Given the description of an element on the screen output the (x, y) to click on. 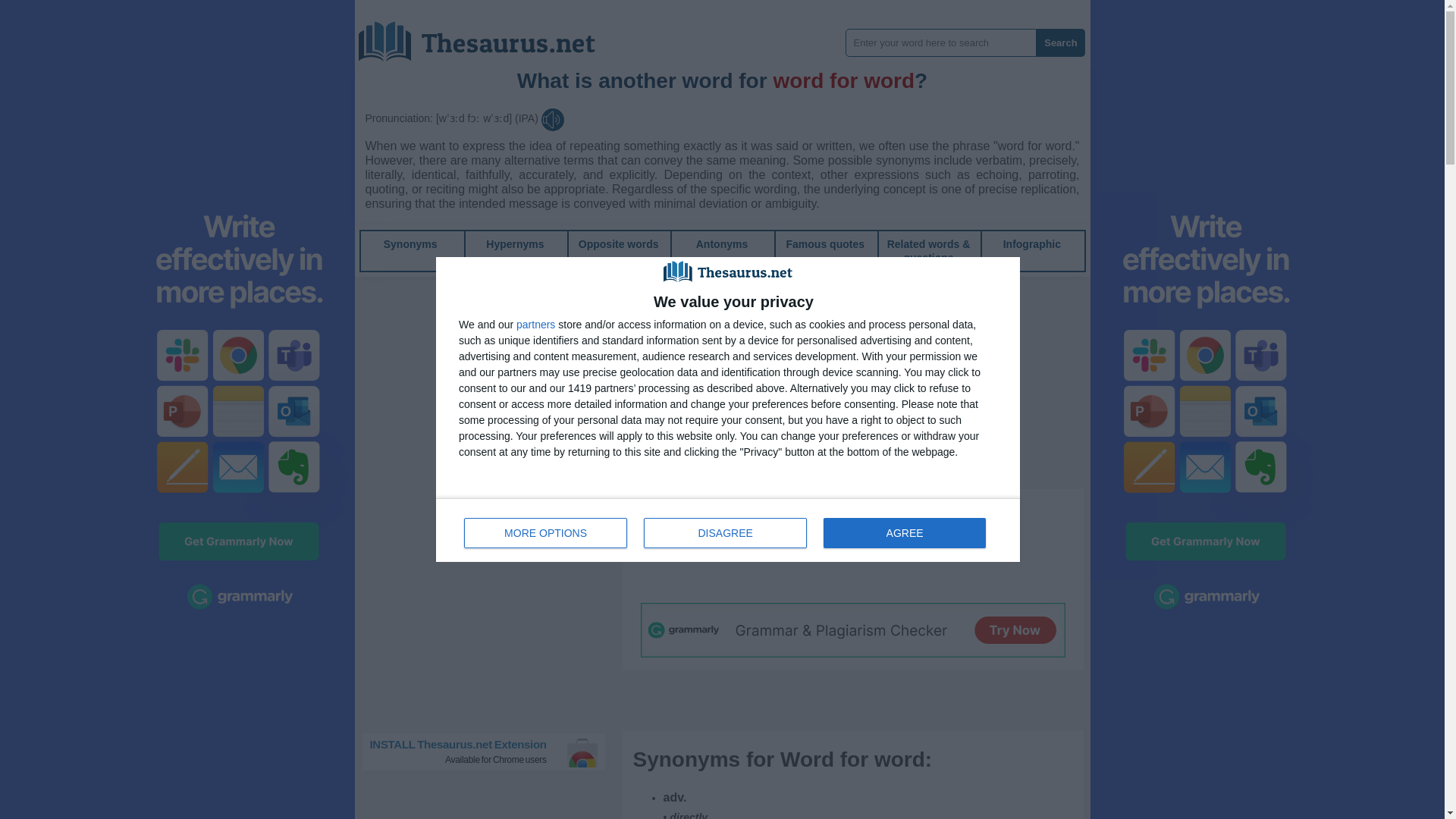
Opposite words (618, 244)
Search (1060, 42)
Hypernyms (514, 244)
Synonyms (411, 244)
AGREE (904, 532)
Antonyms (721, 244)
Synonyms (411, 244)
partners (727, 529)
Famous quotes (535, 324)
